Given the description of an element on the screen output the (x, y) to click on. 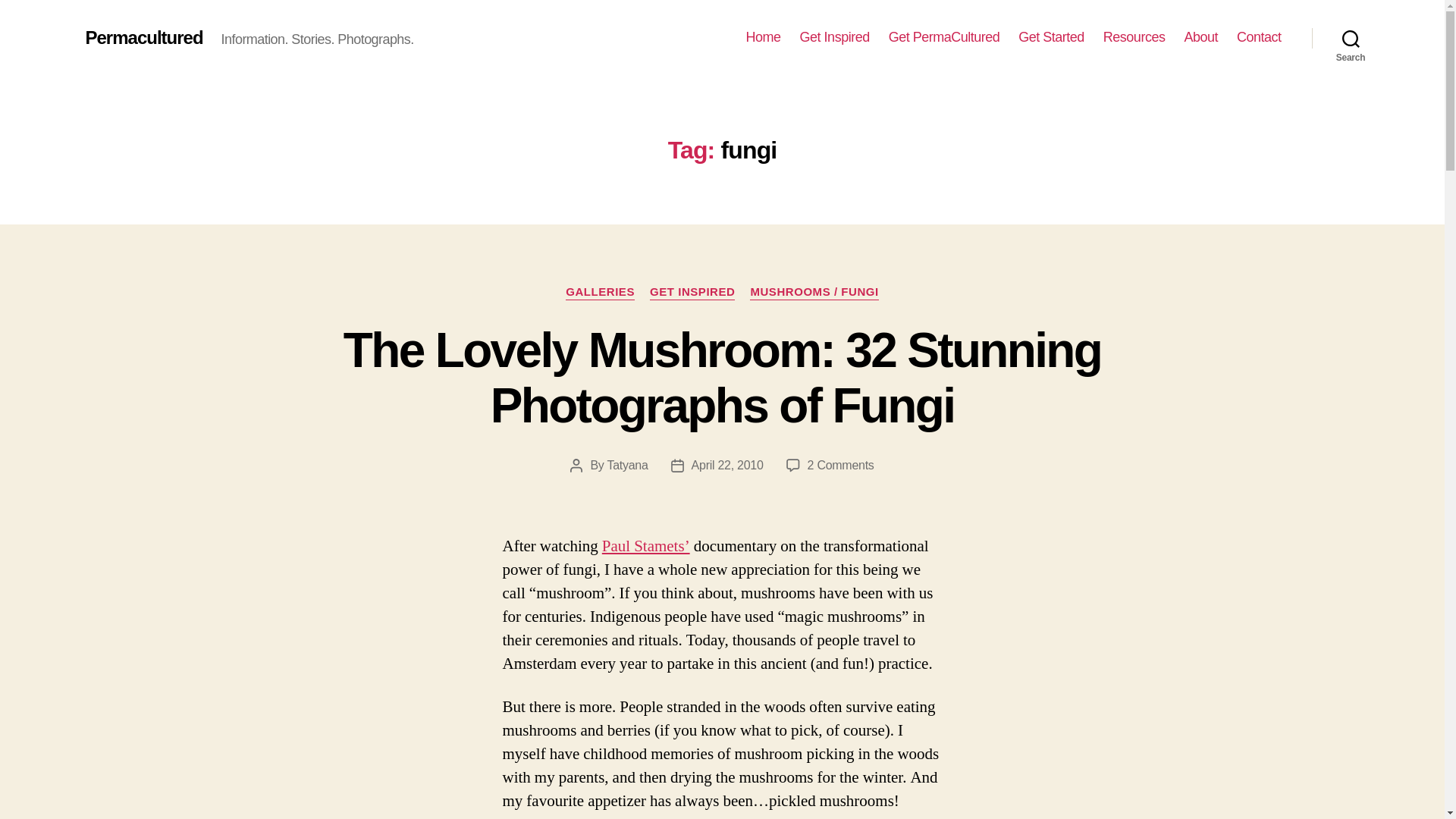
About (1200, 37)
Get PermaCultured (944, 37)
GET INSPIRED (692, 292)
Permacultured (143, 37)
Search (1350, 37)
Get Inspired (834, 37)
April 22, 2010 (726, 464)
Home (762, 37)
Get Started (1050, 37)
Resources (1134, 37)
The Lovely Mushroom: 32 Stunning Photographs of Fungi (721, 377)
Contact (1258, 37)
fungi.com (646, 546)
GALLERIES (600, 292)
